Given the description of an element on the screen output the (x, y) to click on. 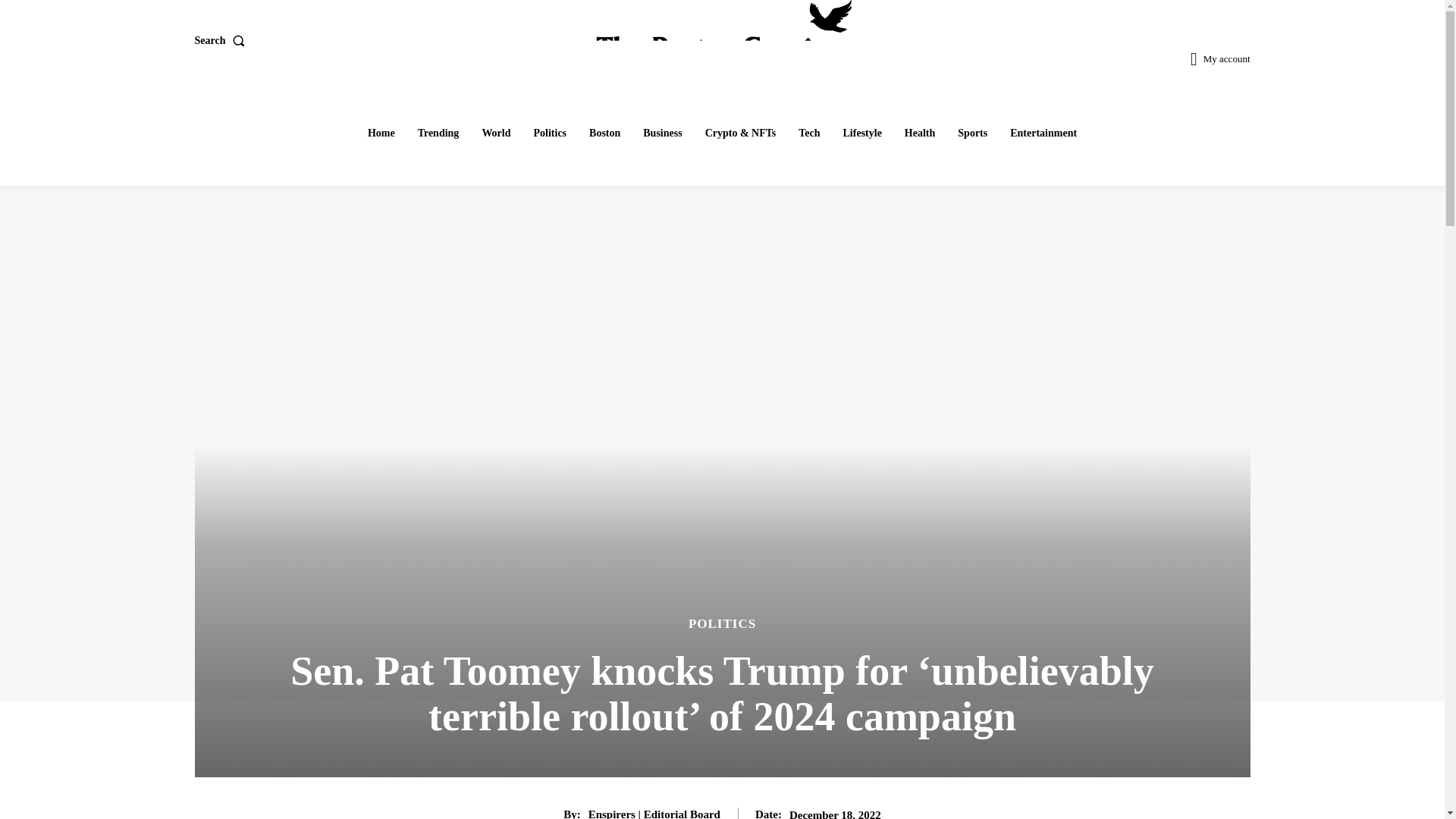
Trending (438, 133)
Search (221, 40)
Home (381, 133)
